Given the description of an element on the screen output the (x, y) to click on. 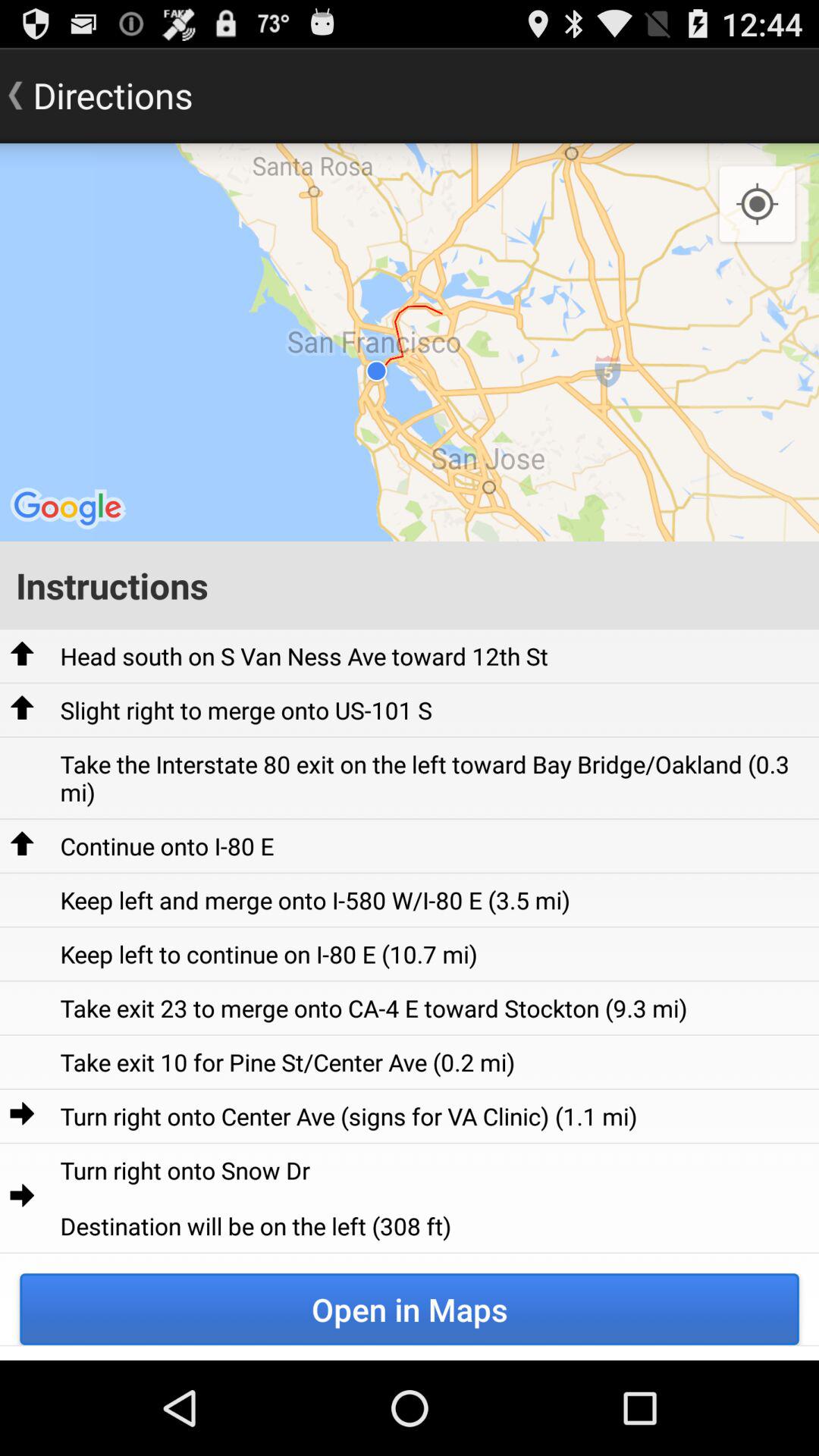
press the head south on app (304, 655)
